Given the description of an element on the screen output the (x, y) to click on. 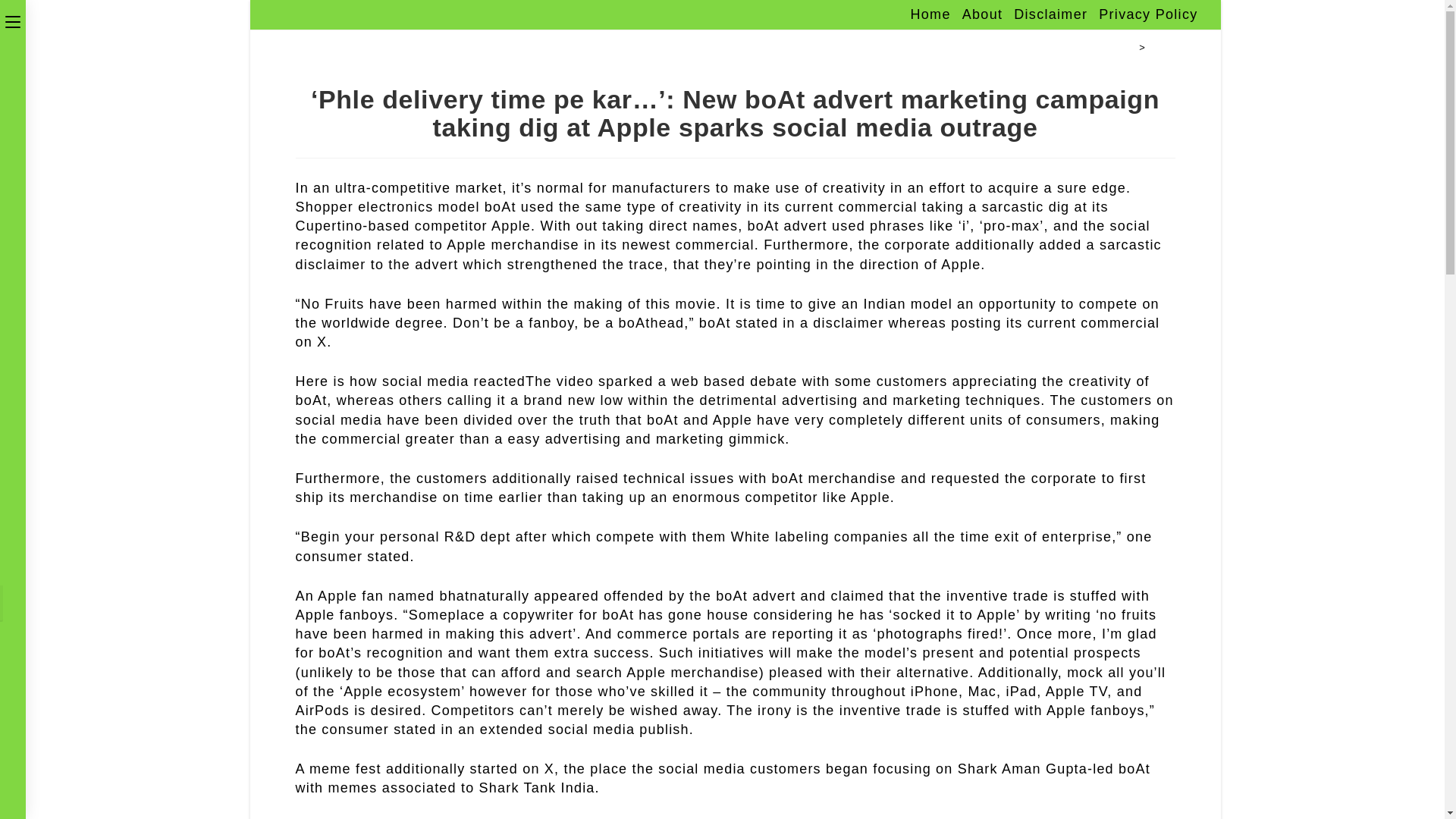
Business (1173, 47)
Home (1119, 47)
Privacy Policy (1147, 14)
Disclaimer (1050, 14)
Home (930, 14)
About (982, 14)
Toggle the button to expand or collapse the Menu (13, 20)
